Given the description of an element on the screen output the (x, y) to click on. 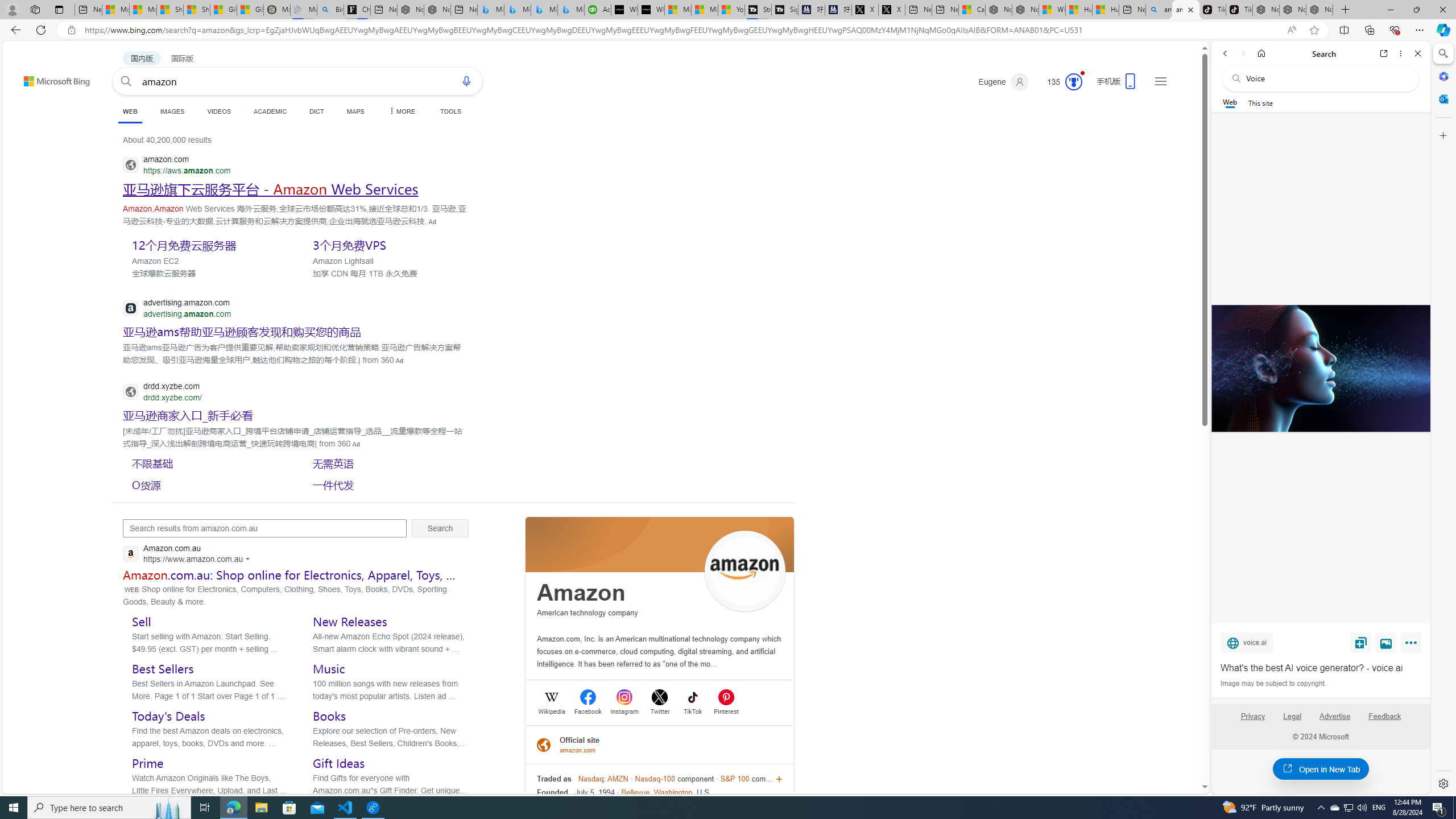
Huge shark washes ashore at New York City beach | Watch (1105, 9)
ACADEMIC (269, 111)
Settings (1442, 783)
Gilma and Hector both pose tropical trouble for Hawaii (249, 9)
SERP,5570 (207, 485)
Search button (126, 80)
AMZN (617, 778)
